Given the description of an element on the screen output the (x, y) to click on. 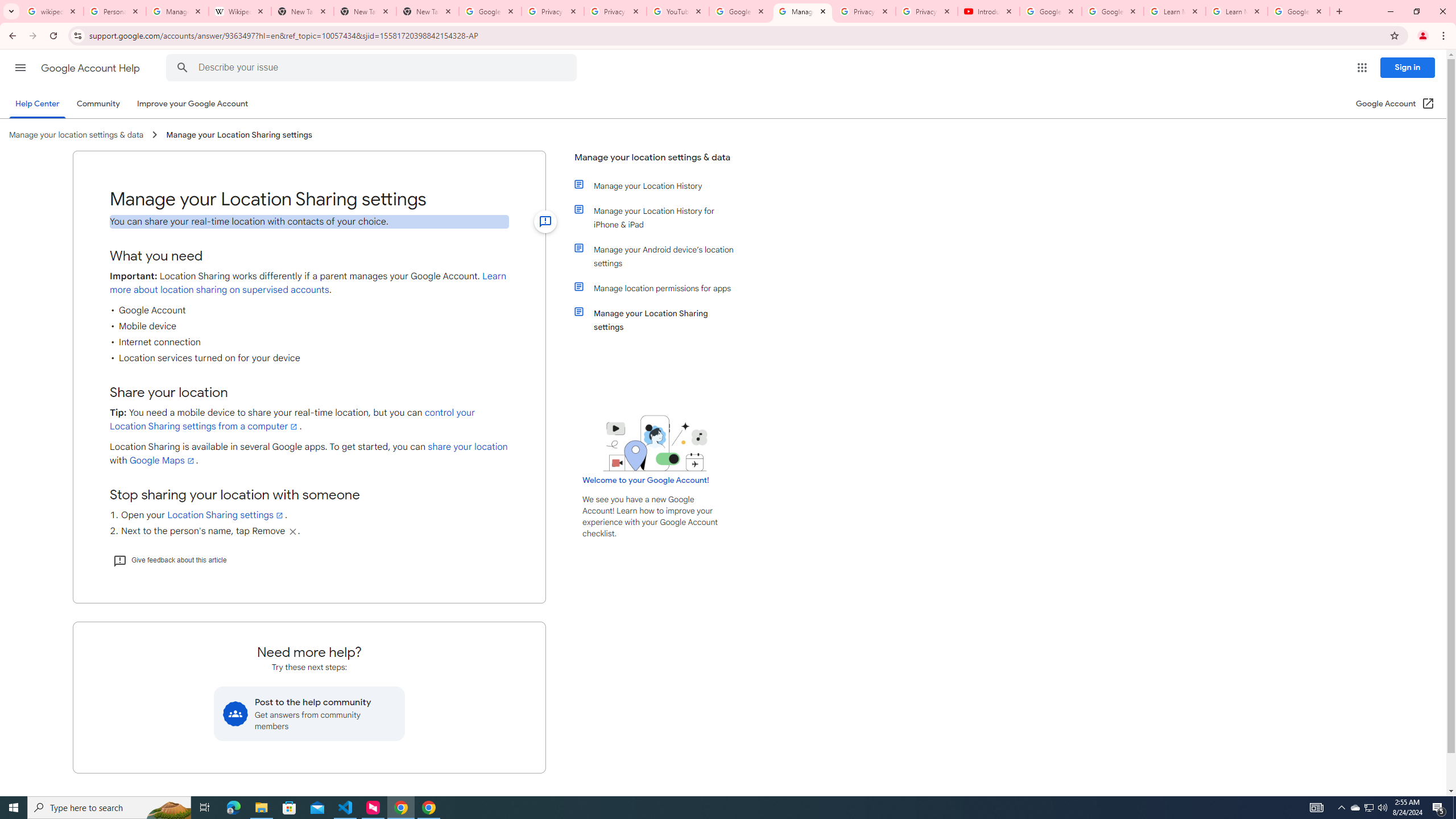
Manage your Location Sharing settings - Google Account Help (802, 11)
Manage your location settings & data (656, 161)
Google Account (Open in a new window) (1395, 103)
Improve your Google Account (192, 103)
Learning Center home page image (655, 442)
Manage your Location History for iPhone & iPad (661, 217)
